Given the description of an element on the screen output the (x, y) to click on. 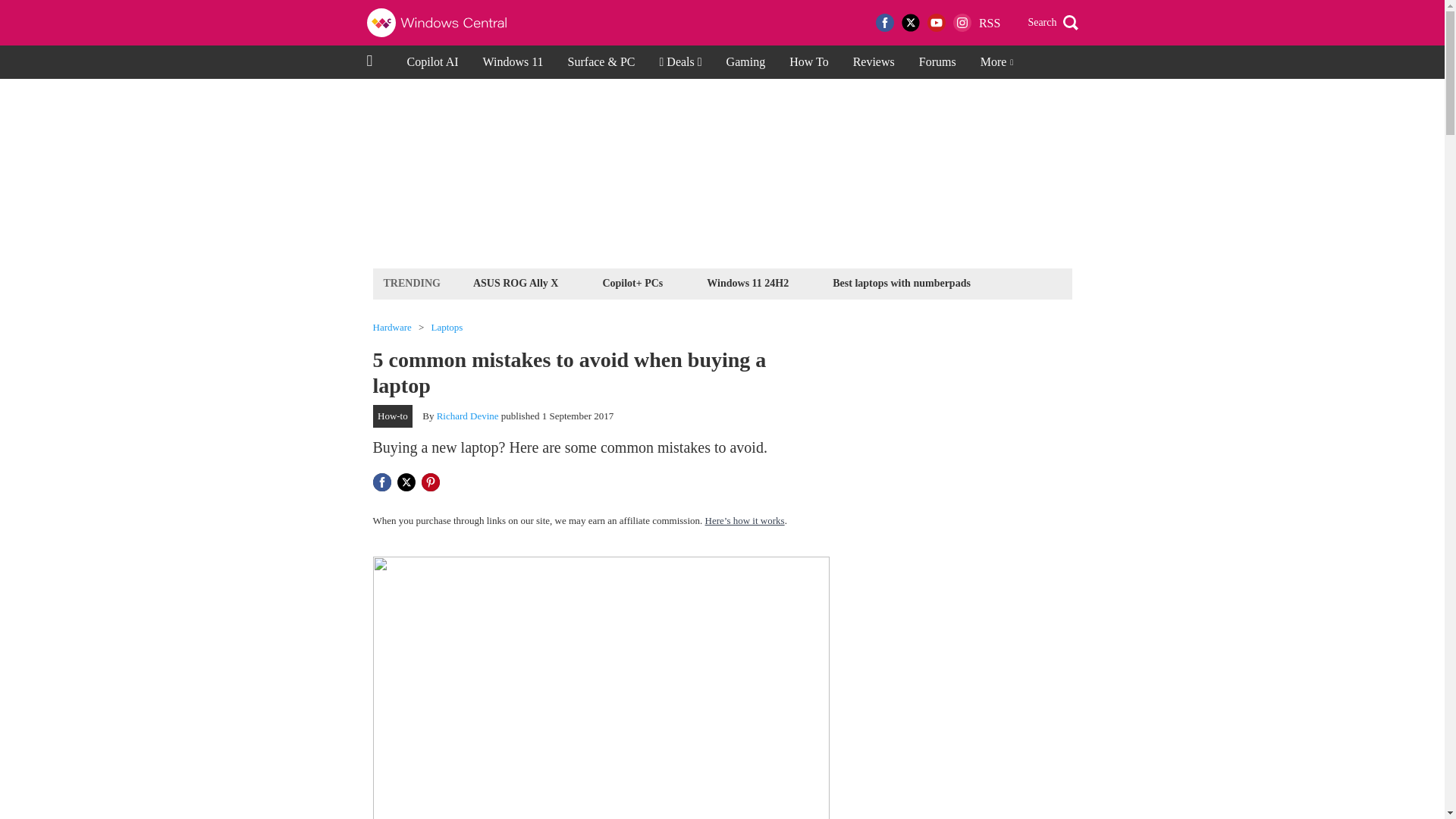
Richard Devine (467, 415)
Gaming (745, 61)
ASUS ROG Ally X (515, 282)
Hardware (392, 327)
Reviews (874, 61)
Windows 11 (513, 61)
How To (808, 61)
Forums (937, 61)
How-to (392, 415)
Laptops (446, 327)
RSS (989, 22)
Best laptops with numberpads (901, 282)
Windows 11 24H2 (747, 282)
Copilot AI (432, 61)
